Given the description of an element on the screen output the (x, y) to click on. 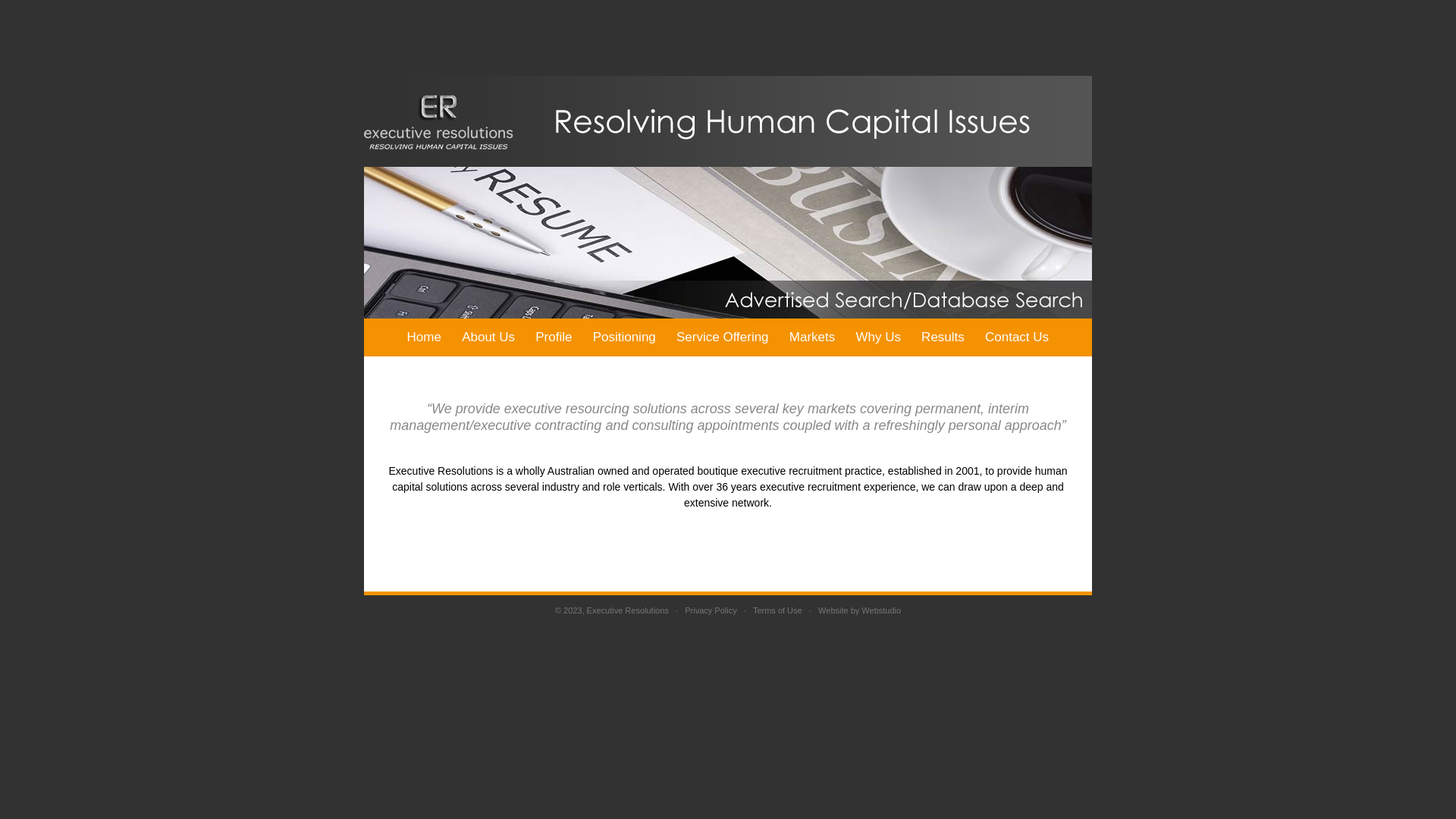
Results Element type: text (943, 337)
Website by Webstudio Element type: text (859, 610)
About Us Element type: text (488, 337)
Terms of Use Element type: text (777, 610)
Contact Us Element type: text (1016, 337)
Positioning Element type: text (623, 337)
Why Us Element type: text (878, 337)
Home Element type: text (423, 337)
Privacy Policy Element type: text (710, 610)
Markets Element type: text (811, 337)
Profile Element type: text (553, 337)
Service Offering Element type: text (721, 337)
